Given the description of an element on the screen output the (x, y) to click on. 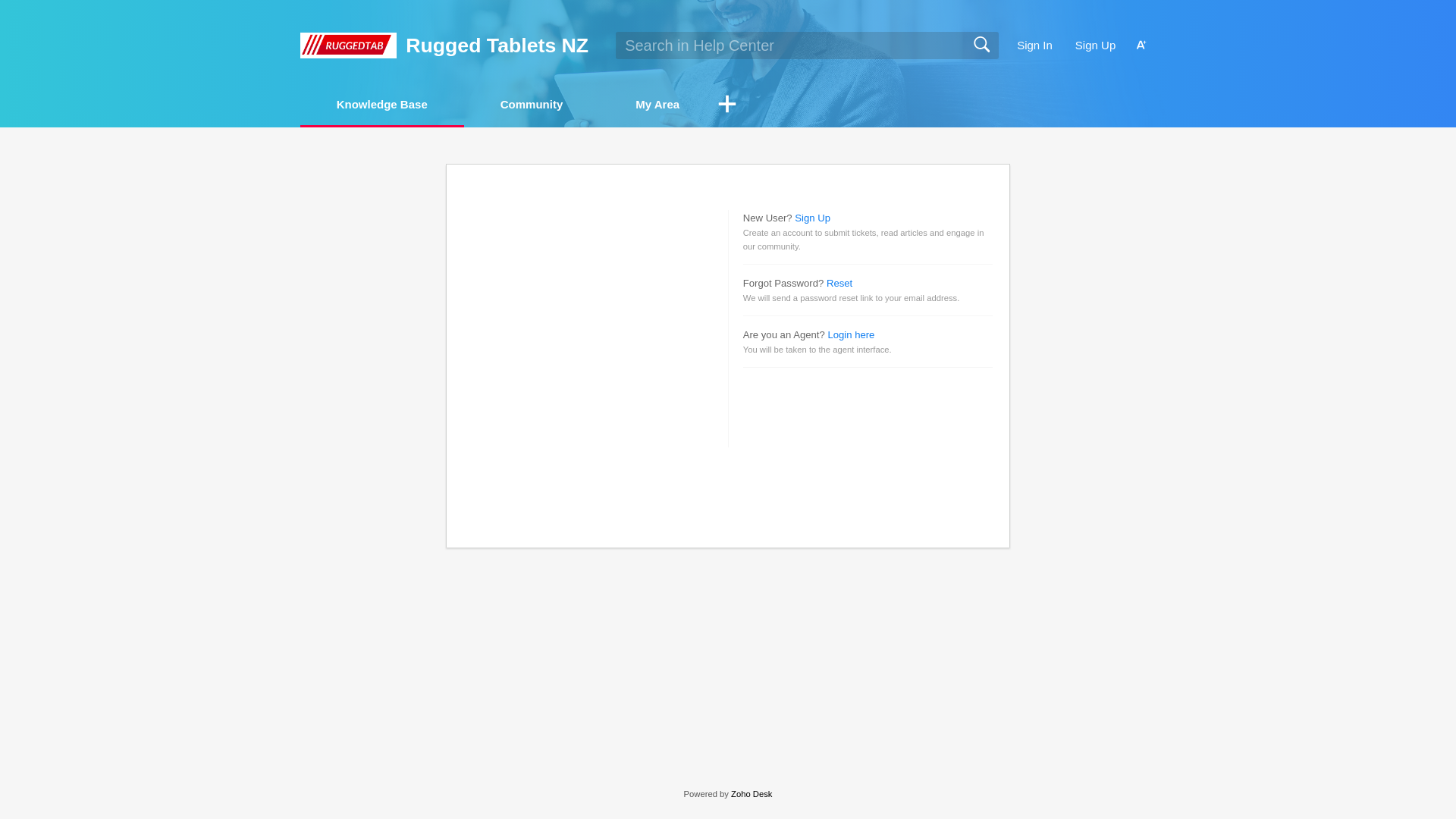
Community (531, 103)
Rugged Tablets NZ (497, 45)
Login here (851, 334)
Zoho Desk (750, 793)
Community (531, 104)
Sign In (1034, 45)
My Area (656, 103)
Sign Up (1095, 45)
Reset (839, 283)
My Area (657, 104)
Search (981, 44)
Knowledge Base (382, 103)
Knowledge Base (381, 104)
Sign Up (811, 217)
